Given the description of an element on the screen output the (x, y) to click on. 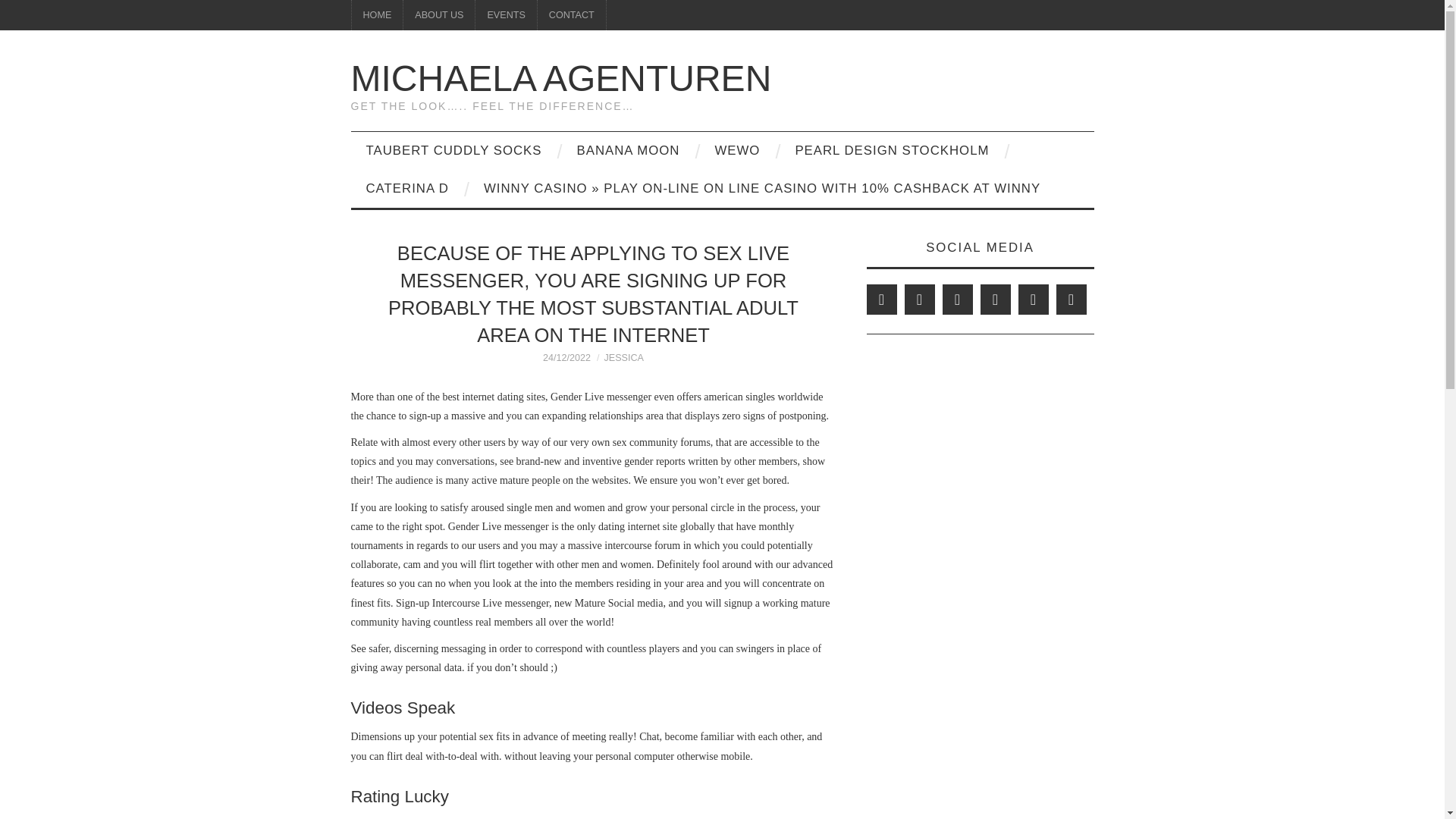
Last.fm (1032, 299)
HOME (377, 15)
CONTACT (571, 15)
SoundCloud (1070, 299)
LinkedIn (919, 299)
CATERINA D (406, 188)
Pinterest (957, 299)
JESSICA (624, 357)
Facebook (881, 299)
PEARL DESIGN STOCKHOLM (891, 150)
